Given the description of an element on the screen output the (x, y) to click on. 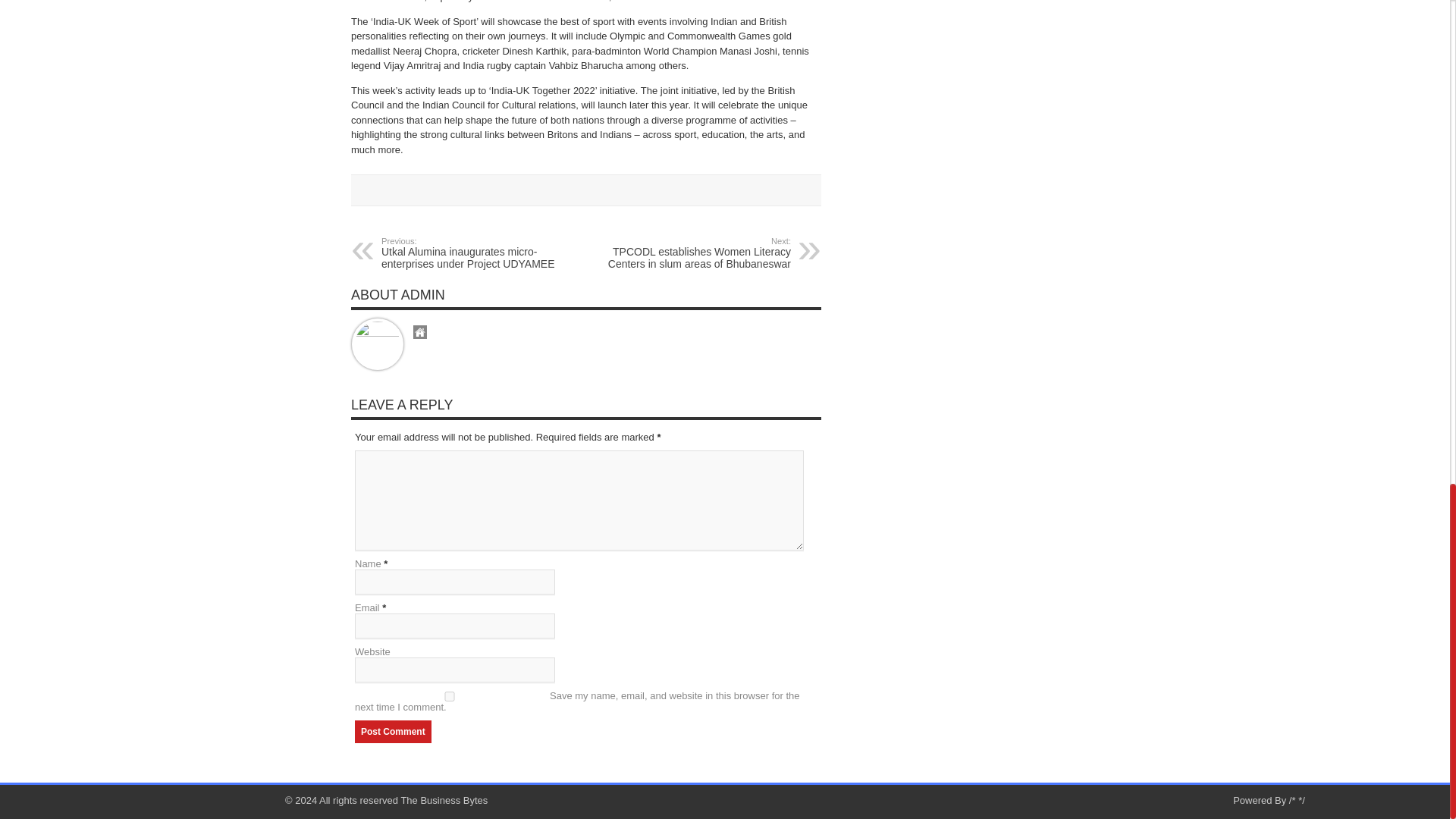
yes (449, 696)
Post Comment (392, 731)
Post Comment (392, 731)
